Given the description of an element on the screen output the (x, y) to click on. 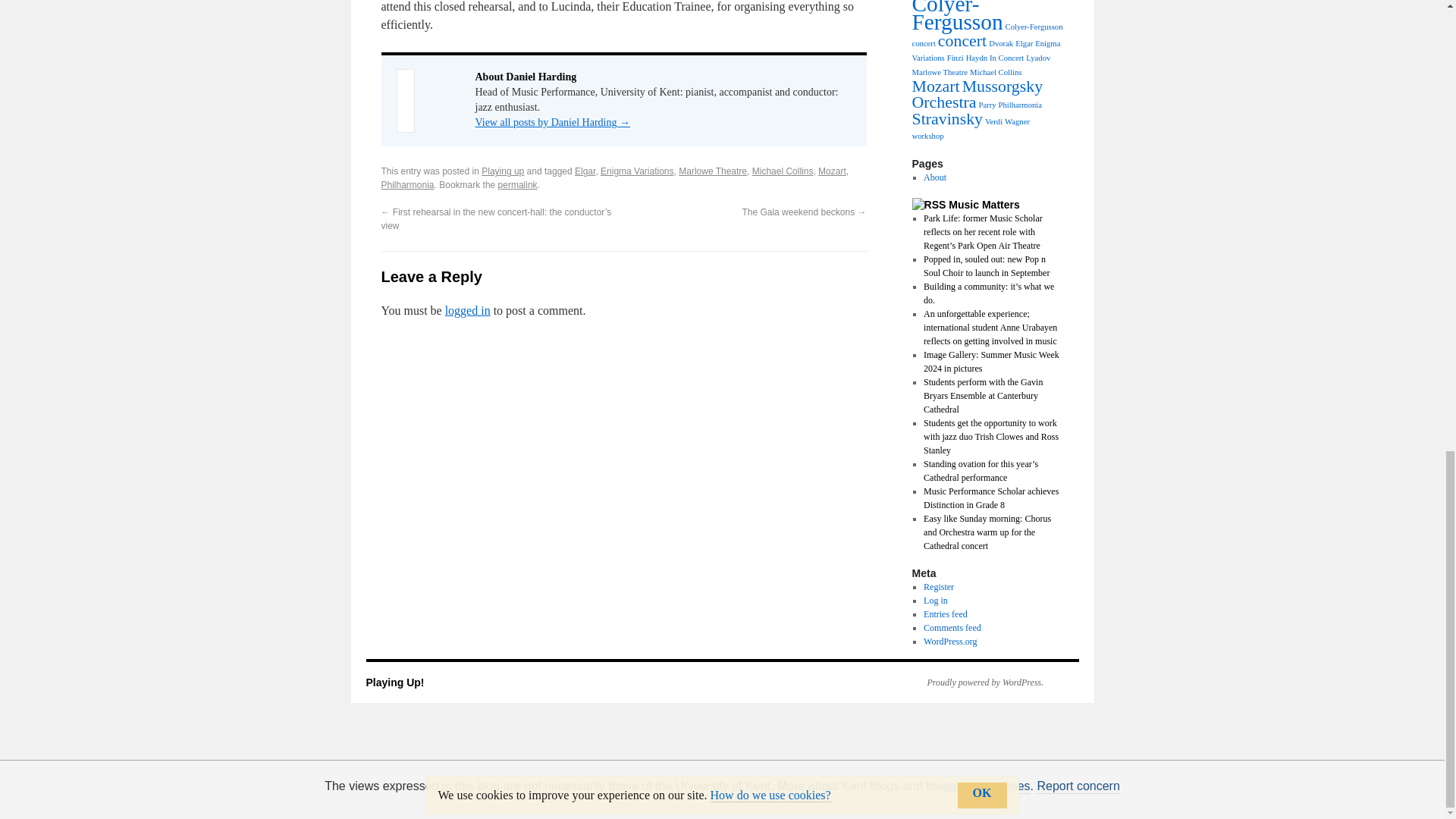
Enigma Variations (636, 171)
Marlowe Theatre (712, 171)
logged in (467, 309)
Michael Collins (782, 171)
Playing up (502, 171)
Mozart (831, 171)
Playing Up! (394, 682)
permalink (517, 184)
Permalink to Sitting in on a Philharmonia rehearsal (517, 184)
Elgar (585, 171)
Semantic Personal Publishing Platform (977, 682)
Philharmonia (406, 184)
